Given the description of an element on the screen output the (x, y) to click on. 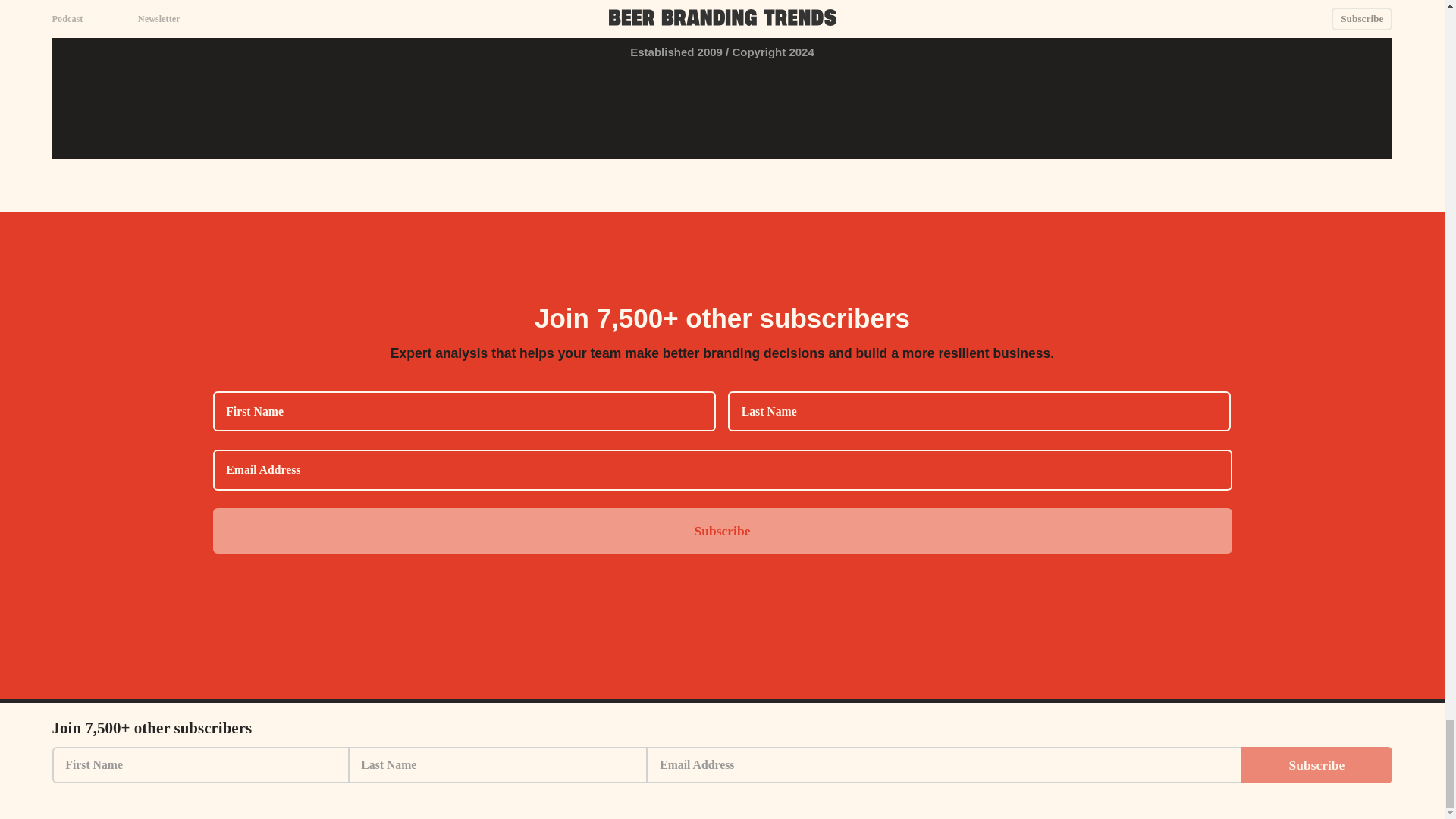
Subscribe (721, 530)
